Given the description of an element on the screen output the (x, y) to click on. 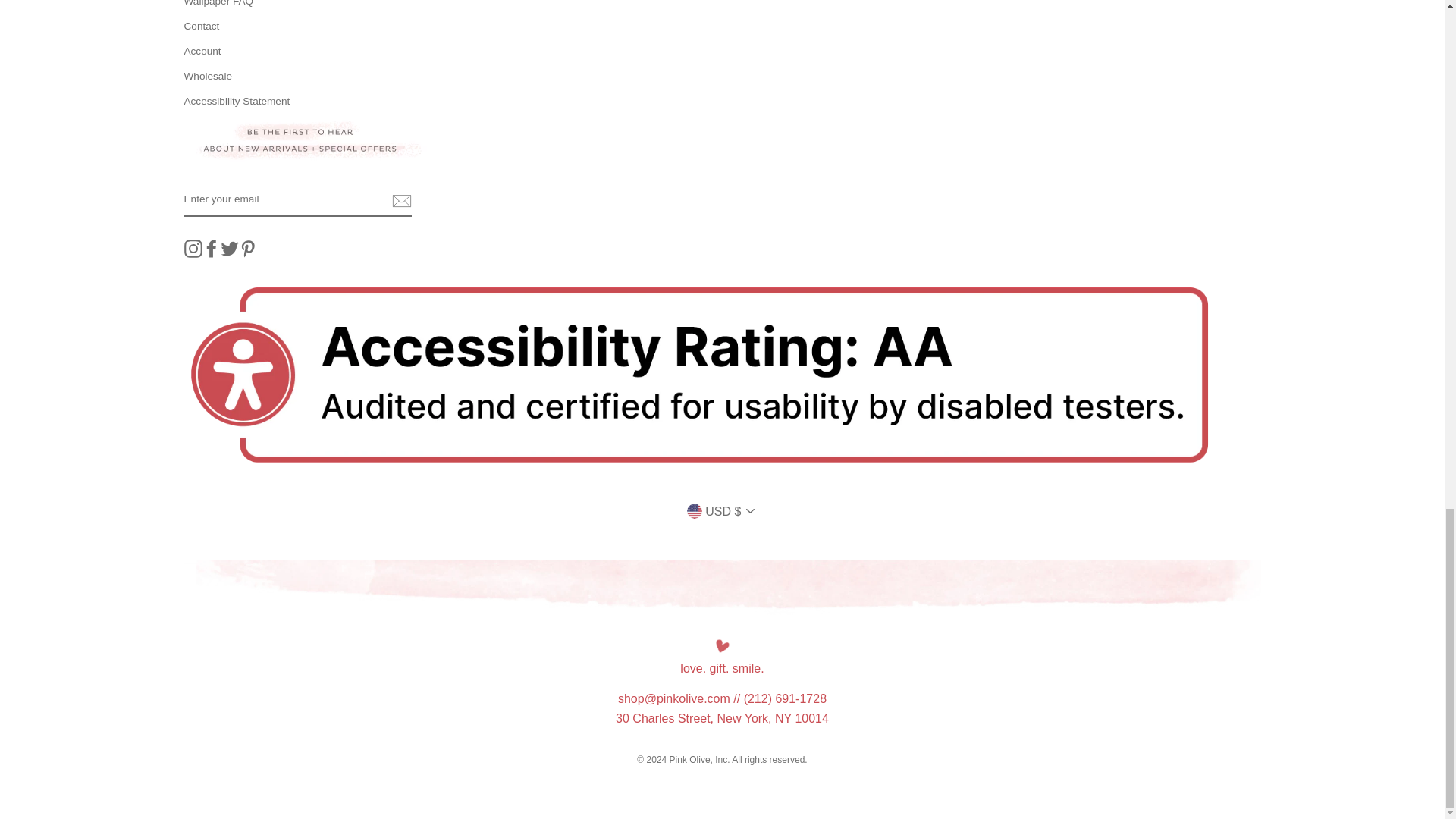
Pink Olive on Instagram (192, 248)
